Given the description of an element on the screen output the (x, y) to click on. 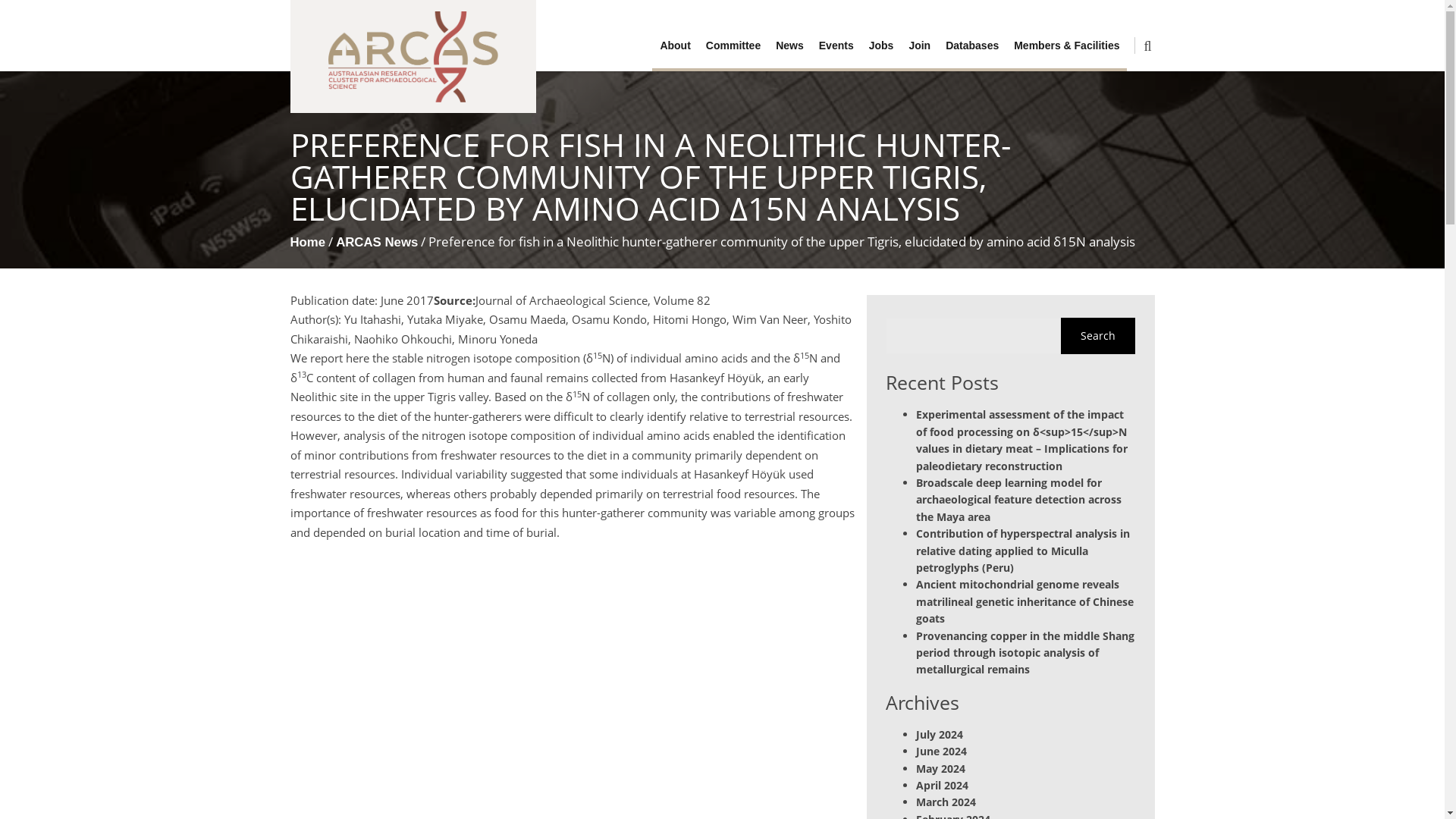
ARCAS News (376, 242)
Home (306, 242)
March 2024 (945, 801)
About (674, 45)
February 2024 (952, 815)
June 2024 (940, 750)
Events (835, 45)
Databases (971, 45)
Committee (733, 45)
Search (1097, 335)
Jobs (881, 45)
July 2024 (938, 734)
Join (919, 45)
